Given the description of an element on the screen output the (x, y) to click on. 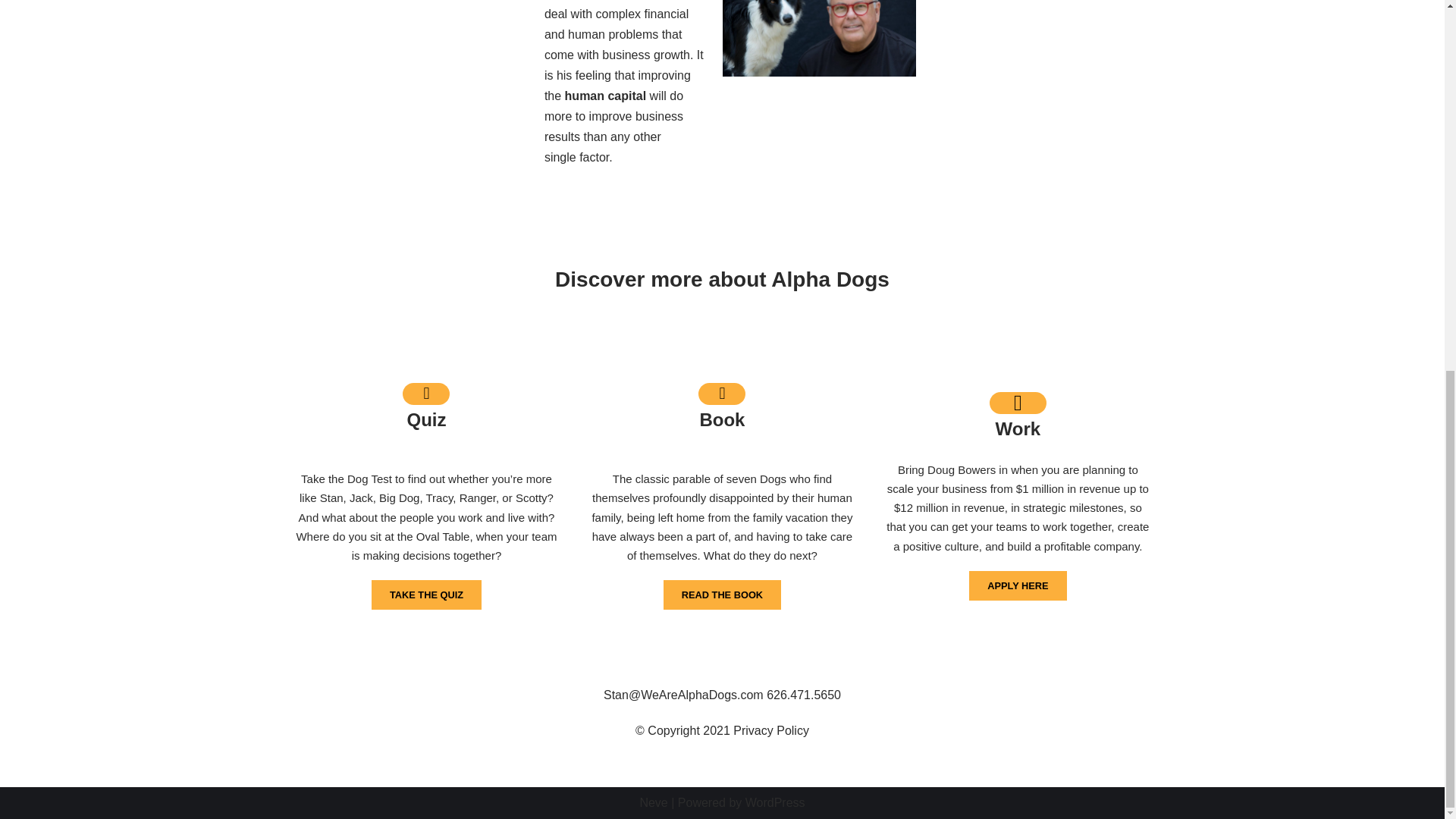
TAKE THE QUIZ (426, 594)
WordPress (775, 802)
READ THE BOOK (721, 594)
APPLY HERE (1017, 585)
Neve (652, 802)
